Given the description of an element on the screen output the (x, y) to click on. 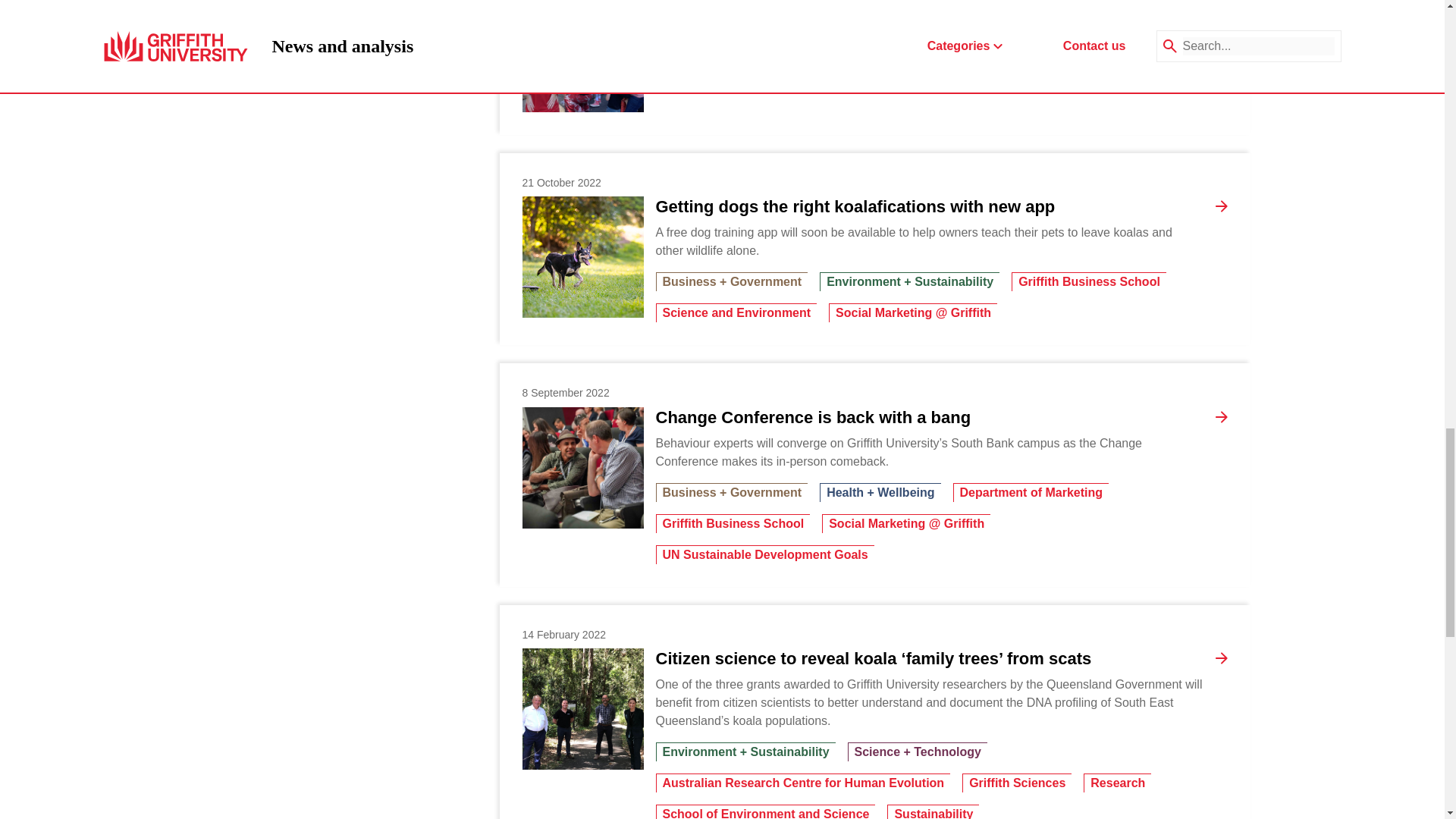
Change Conference is back with a bang (813, 417)
Getting dogs the right koalafications with new app (854, 206)
Change Conference is back with a bang (582, 467)
Getting dogs the right koalafications with new app (582, 256)
